Given the description of an element on the screen output the (x, y) to click on. 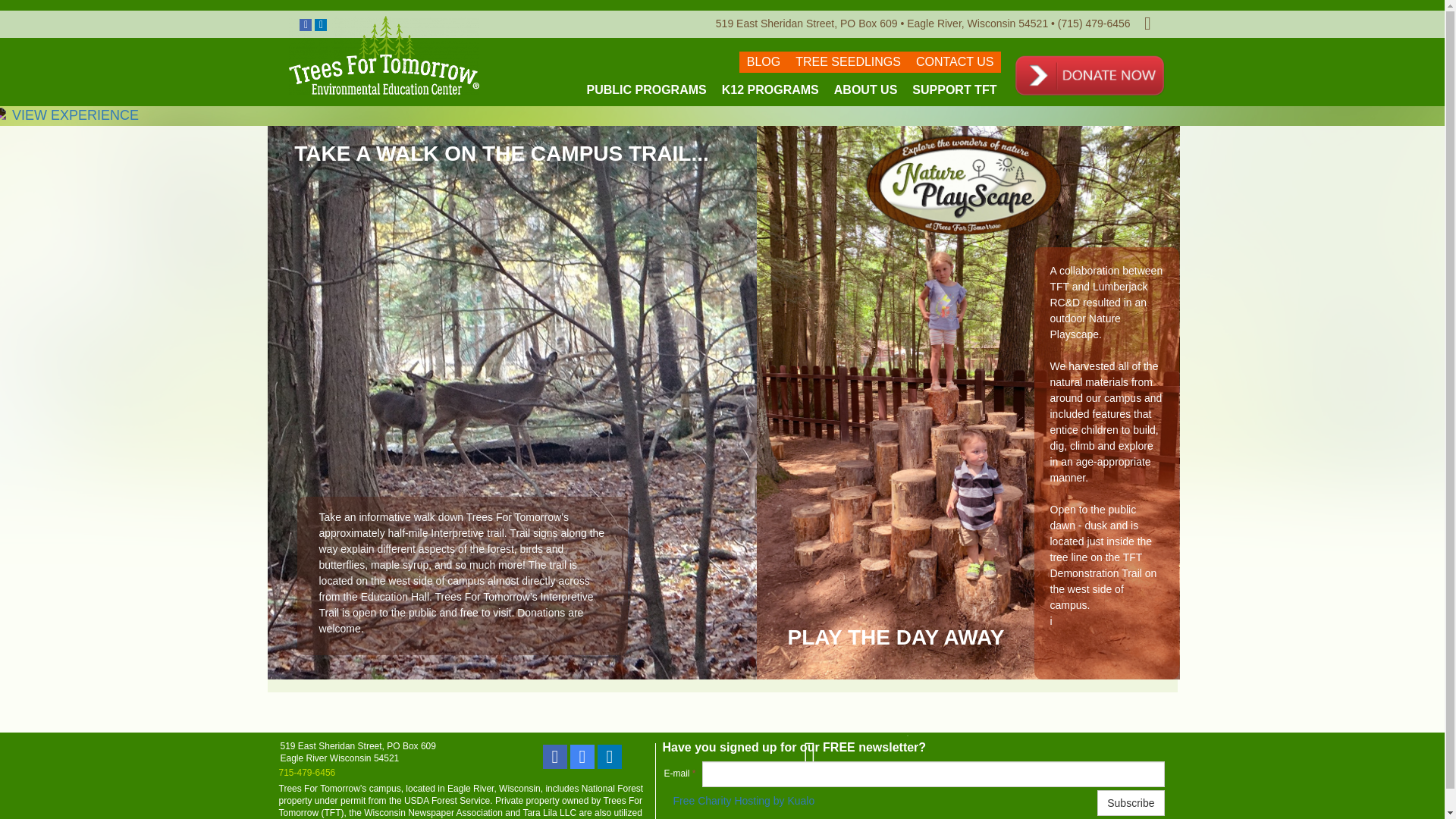
Contact Us (1151, 22)
TREE SEEDLINGS (847, 61)
BLOG (763, 61)
Trees For Tomorrow Logo (383, 55)
SUPPORT TFT (954, 89)
VIEW EXPERIENCE (69, 114)
K12 PROGRAMS (769, 89)
ABOUT US (865, 89)
CONTACT US (954, 61)
Contact Us (819, 752)
Free Charity Hosting (743, 800)
Donate Now Button (1089, 75)
PUBLIC PROGRAMS (646, 89)
